Given the description of an element on the screen output the (x, y) to click on. 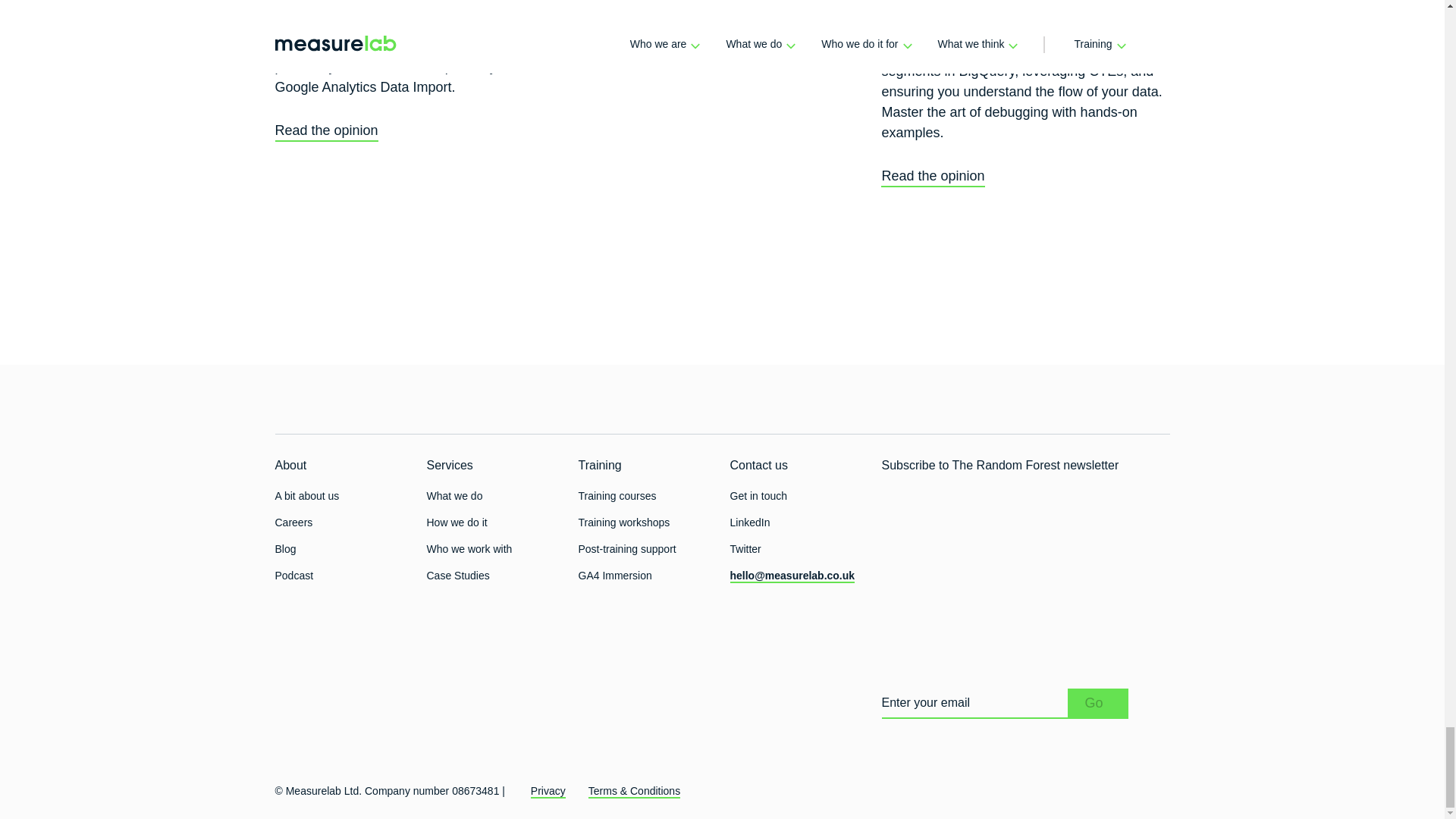
Go (1097, 702)
